Given the description of an element on the screen output the (x, y) to click on. 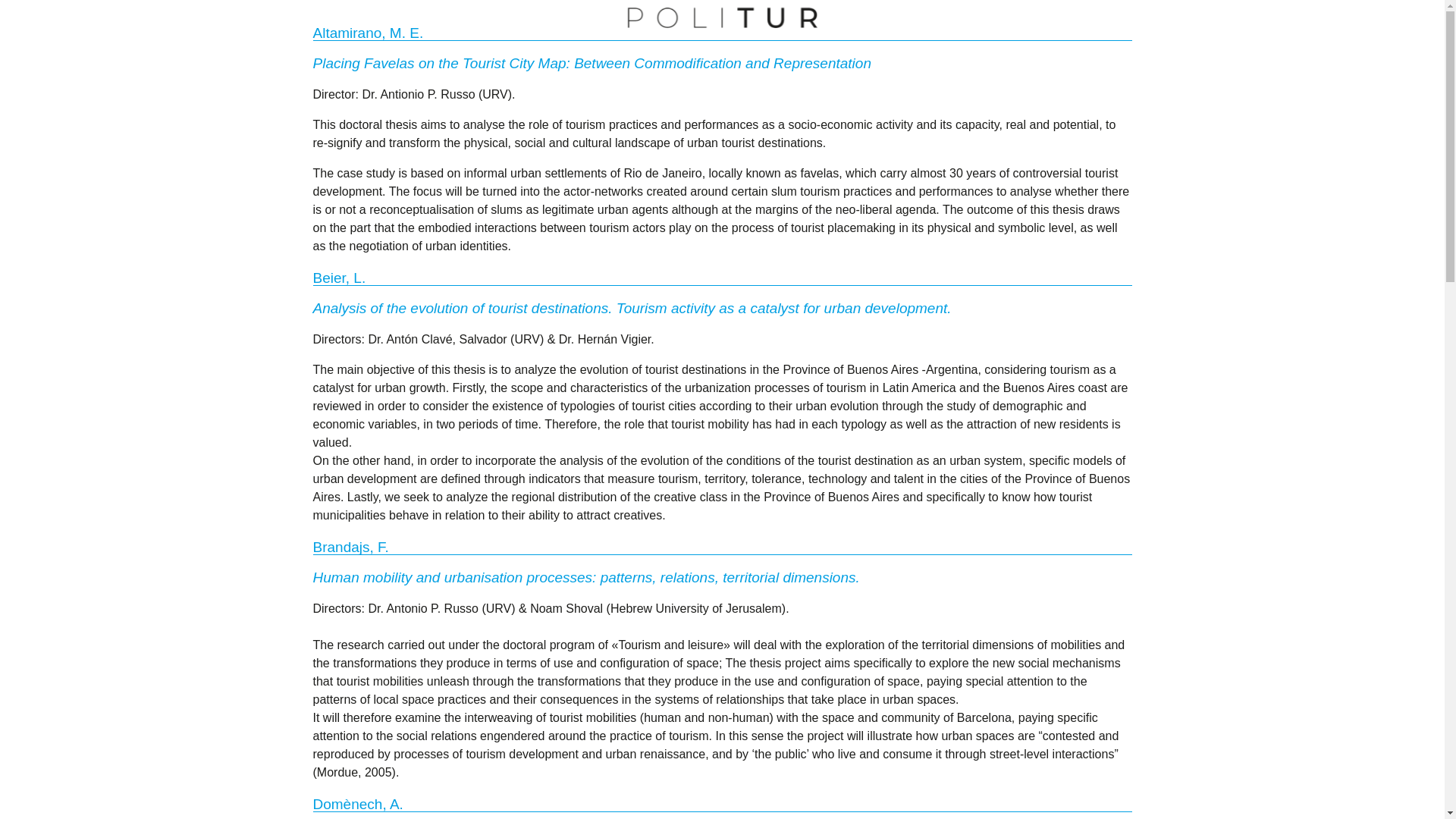
Publications (561, 36)
Contact (874, 42)
Conference papers (676, 38)
PHD Thesis (790, 41)
Home (413, 17)
POLITUR Webinar (975, 45)
Project (479, 21)
